Given the description of an element on the screen output the (x, y) to click on. 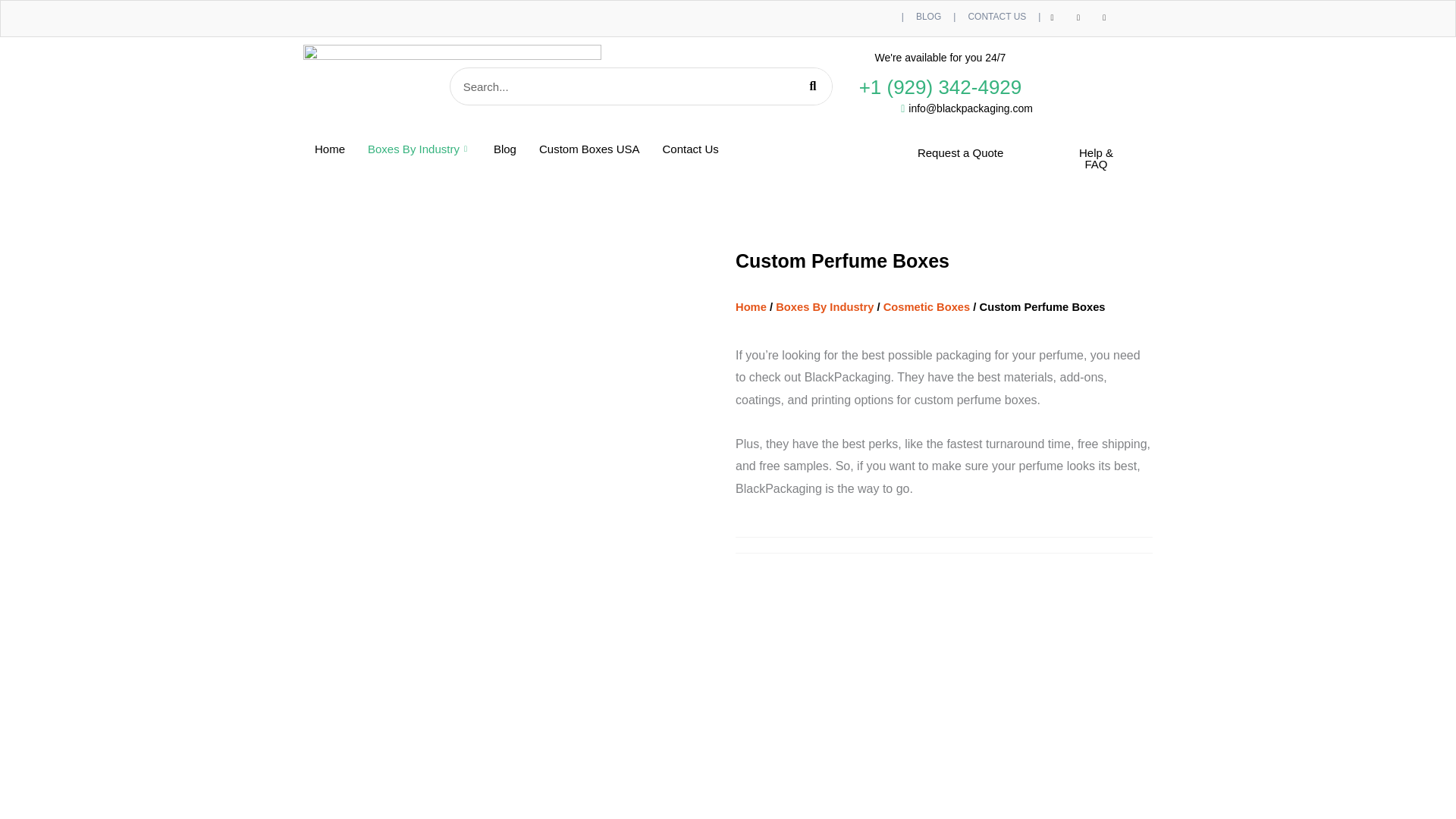
Search (621, 85)
BLOG (927, 16)
Search (812, 85)
Boxes By Industry (418, 148)
CONTACT US (997, 16)
Home (329, 148)
